Given the description of an element on the screen output the (x, y) to click on. 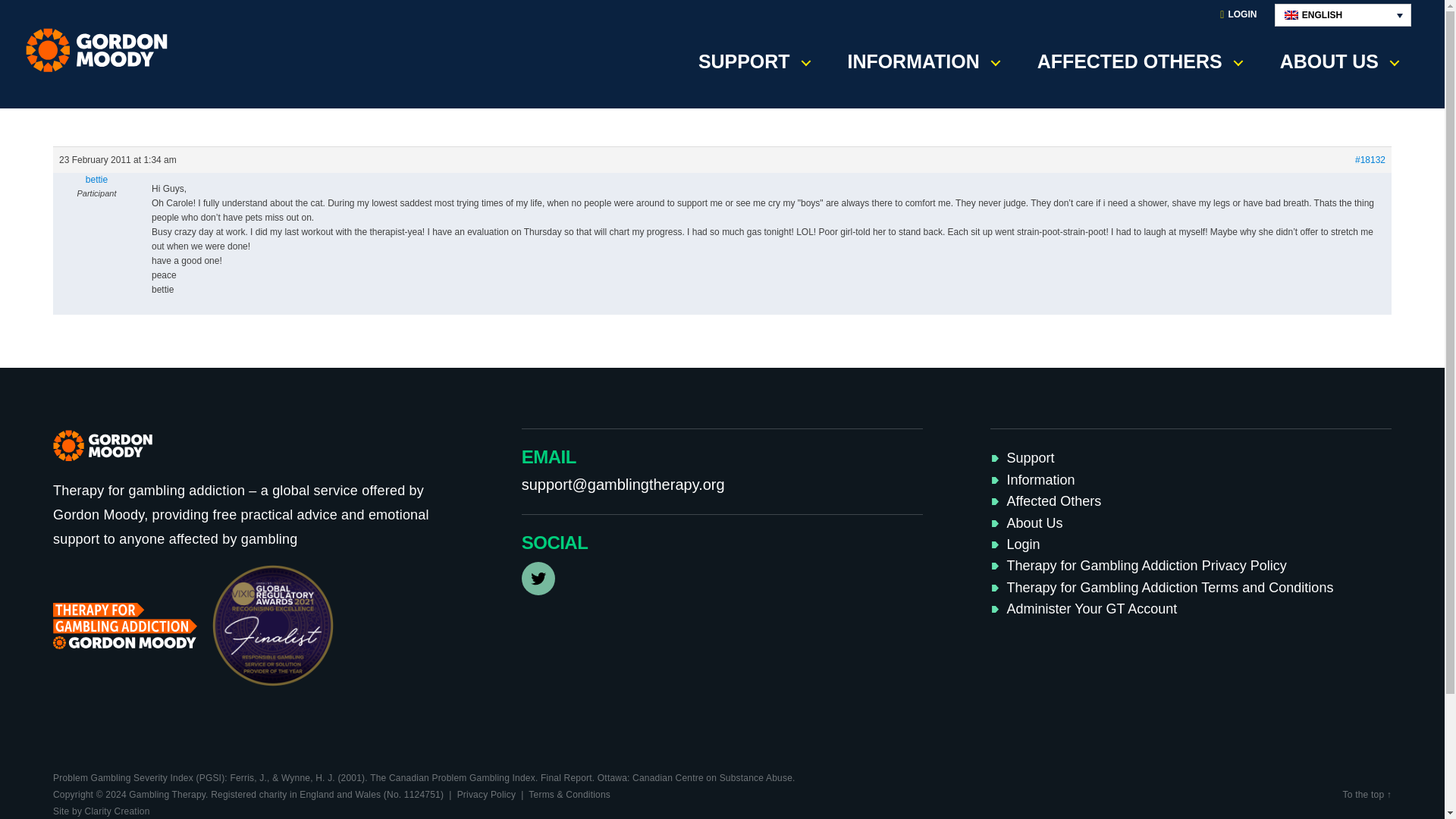
Visit the Clarity Creation website (100, 810)
Gordon Moody (101, 50)
View bettie's profile (95, 179)
LOGIN (1238, 15)
ENGLISH (1342, 15)
